Given the description of an element on the screen output the (x, y) to click on. 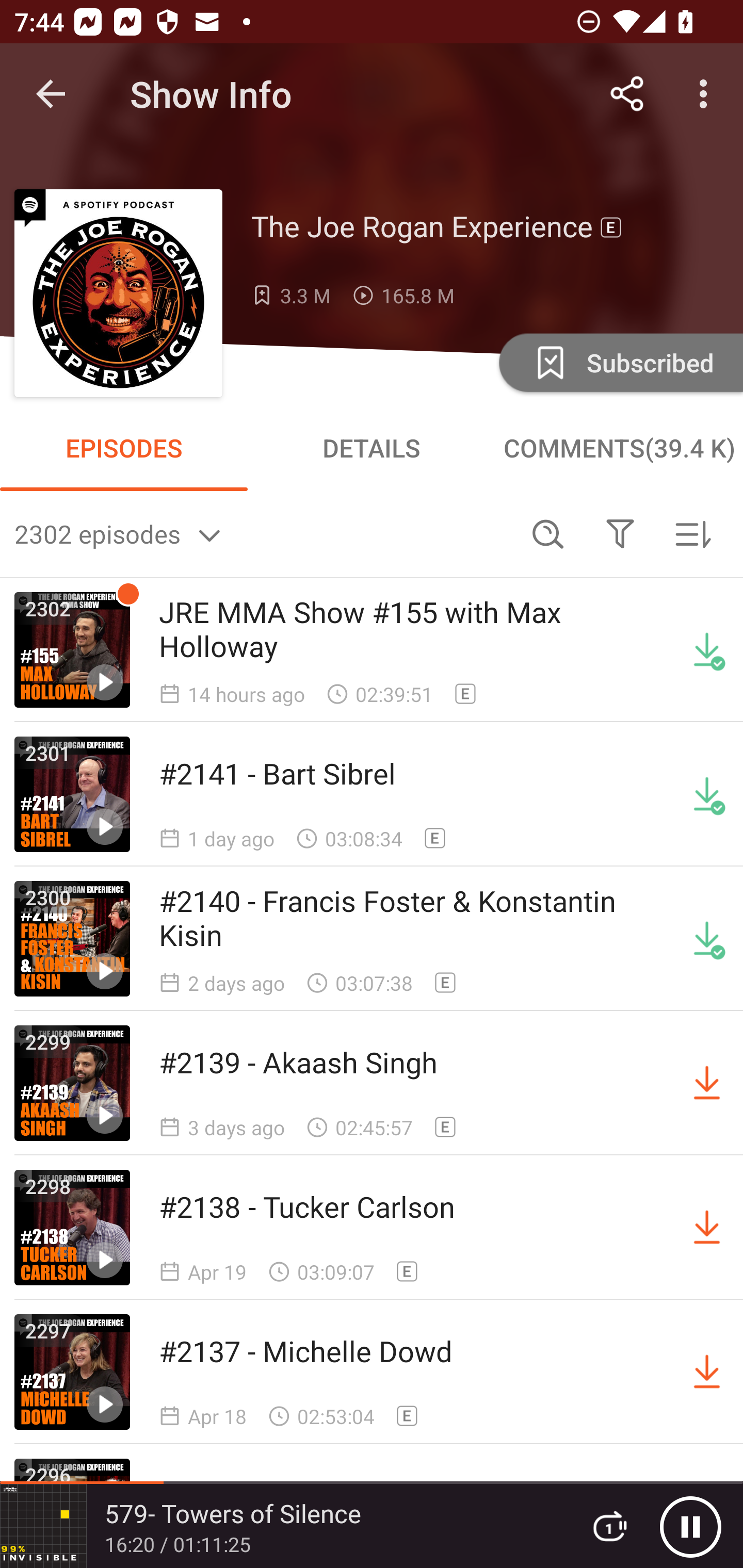
Navigate up (50, 93)
Share (626, 93)
More options (706, 93)
Unsubscribe Subscribed (619, 361)
EPISODES (123, 447)
DETAILS (371, 447)
COMMENTS(39.4 K) (619, 447)
2302 episodes  (262, 533)
 Search (547, 533)
 (619, 533)
 Sorted by newest first (692, 533)
Downloaded (706, 649)
Downloaded (706, 793)
Downloaded (706, 939)
Download (706, 1083)
Download (706, 1227)
Download (706, 1371)
579- Towers of Silence 16:20 / 01:11:25 (283, 1525)
Pause (690, 1526)
